Given the description of an element on the screen output the (x, y) to click on. 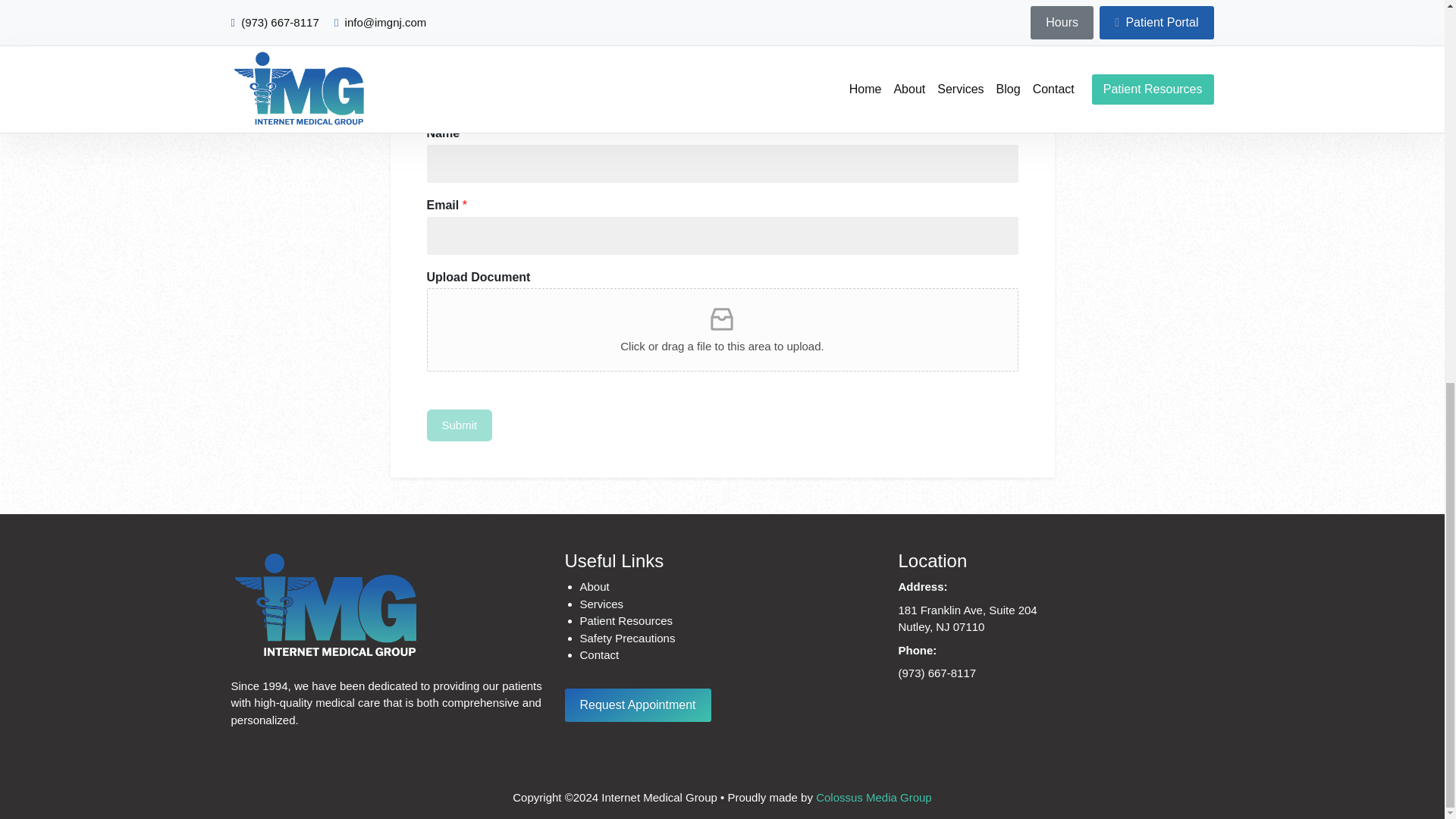
Download (967, 618)
Patient Resources (721, 22)
Colossus Media Group (729, 620)
Request Appointment (873, 797)
Safety Precautions (637, 704)
About (729, 638)
Services (729, 587)
Submit (729, 604)
Contact (459, 425)
